Given the description of an element on the screen output the (x, y) to click on. 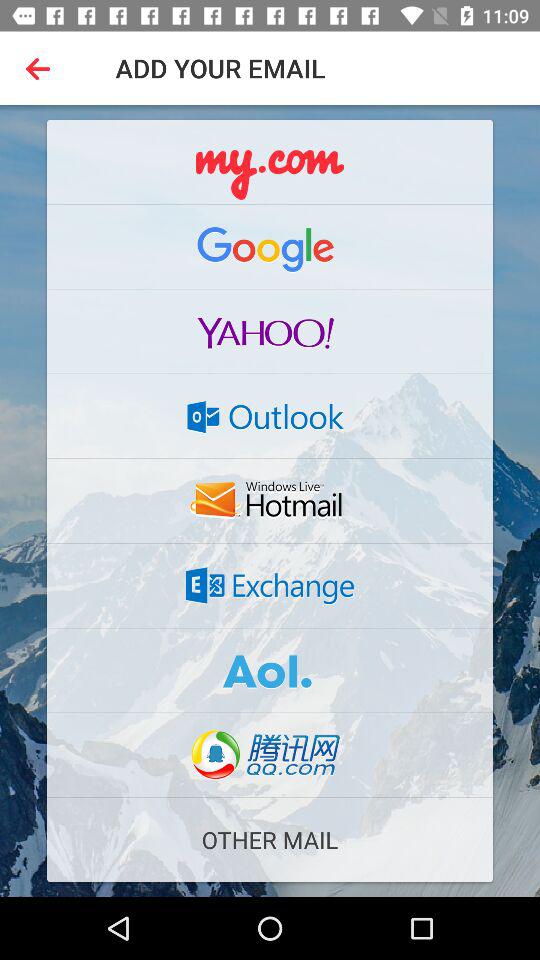
use my.com email (269, 162)
